Given the description of an element on the screen output the (x, y) to click on. 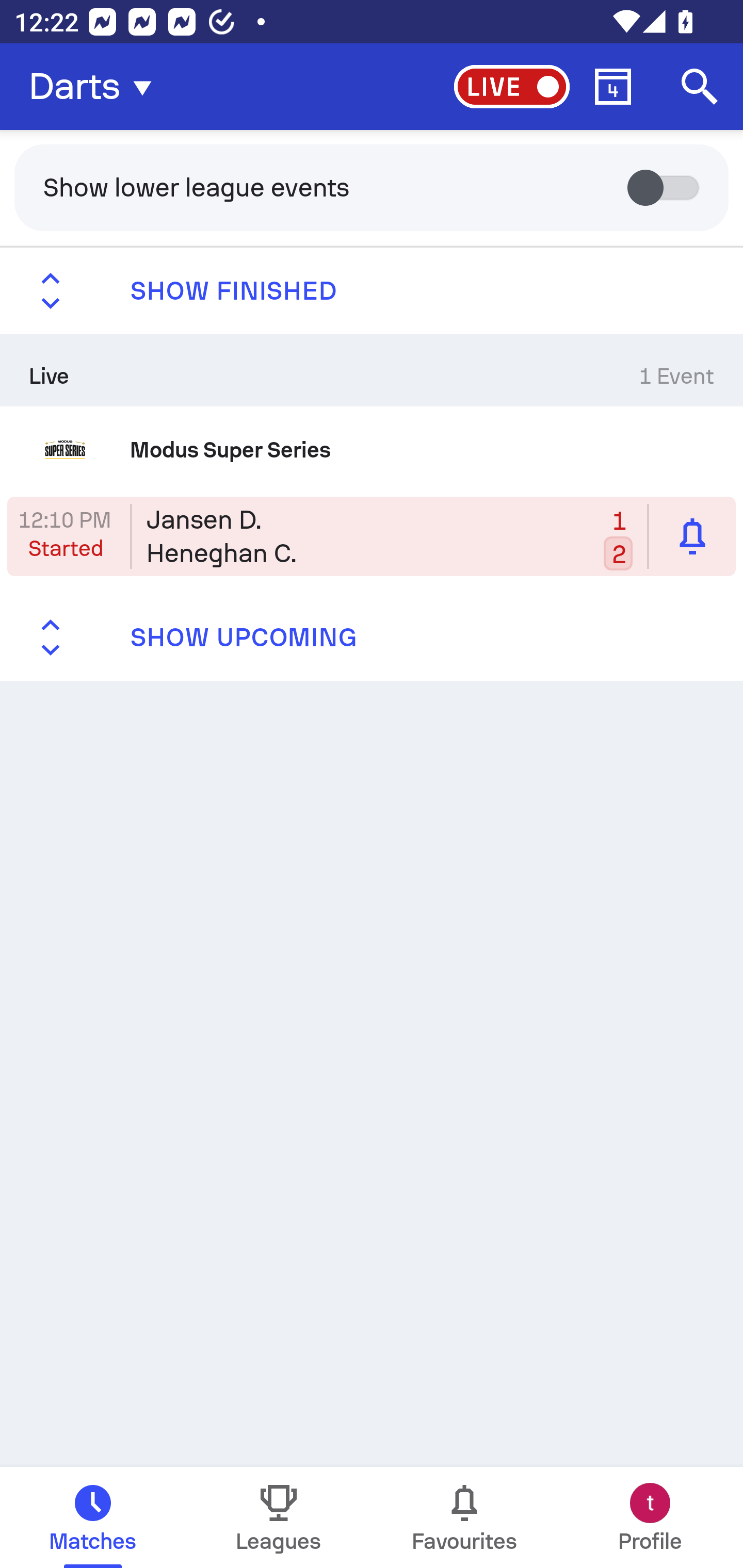
Darts (96, 86)
Calendar (612, 86)
Search (699, 86)
Show lower league events (371, 187)
SHOW FINISHED (371, 290)
Live 1 Event (371, 369)
Modus Super Series (371, 449)
12:10 PM Started Jansen D. 1 Heneghan C. 2 2 (371, 536)
SHOW UPCOMING (371, 637)
Leagues (278, 1517)
Favourites (464, 1517)
Profile (650, 1517)
